Given the description of an element on the screen output the (x, y) to click on. 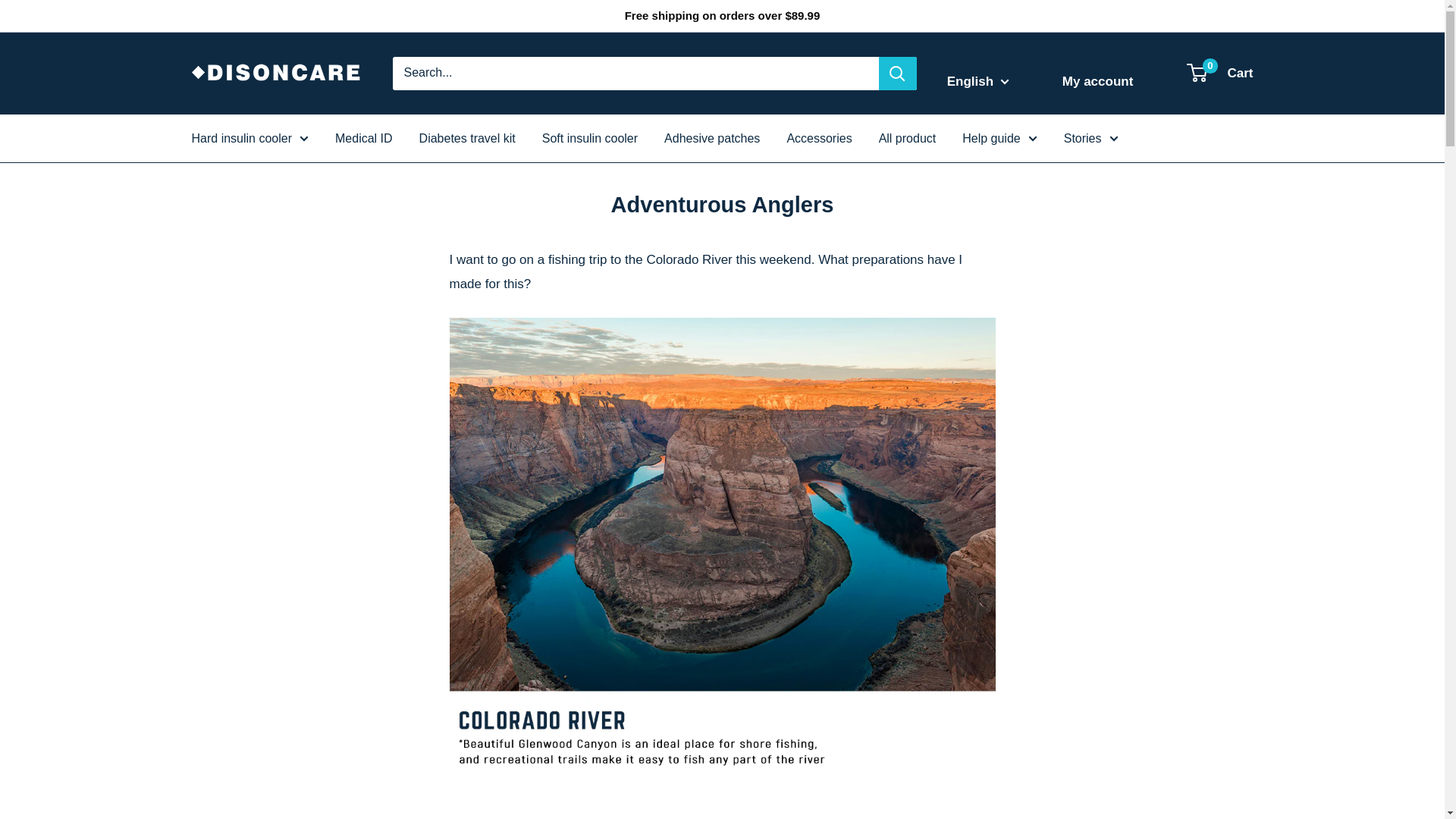
tr (983, 180)
de (983, 157)
English (978, 81)
en (983, 134)
DISONCARE (275, 73)
